Given the description of an element on the screen output the (x, y) to click on. 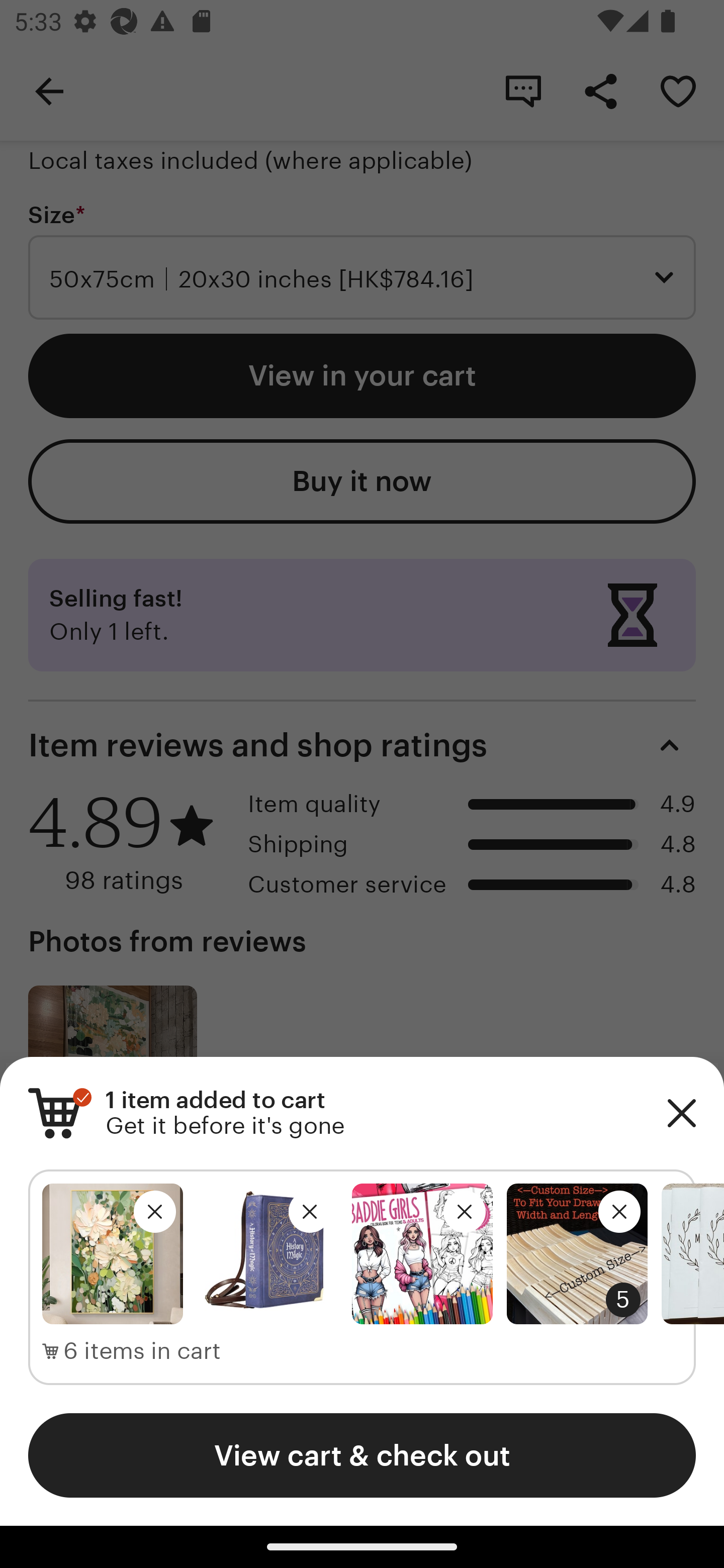
6 items in cart (131, 1351)
View cart & check out (361, 1454)
